Given the description of an element on the screen output the (x, y) to click on. 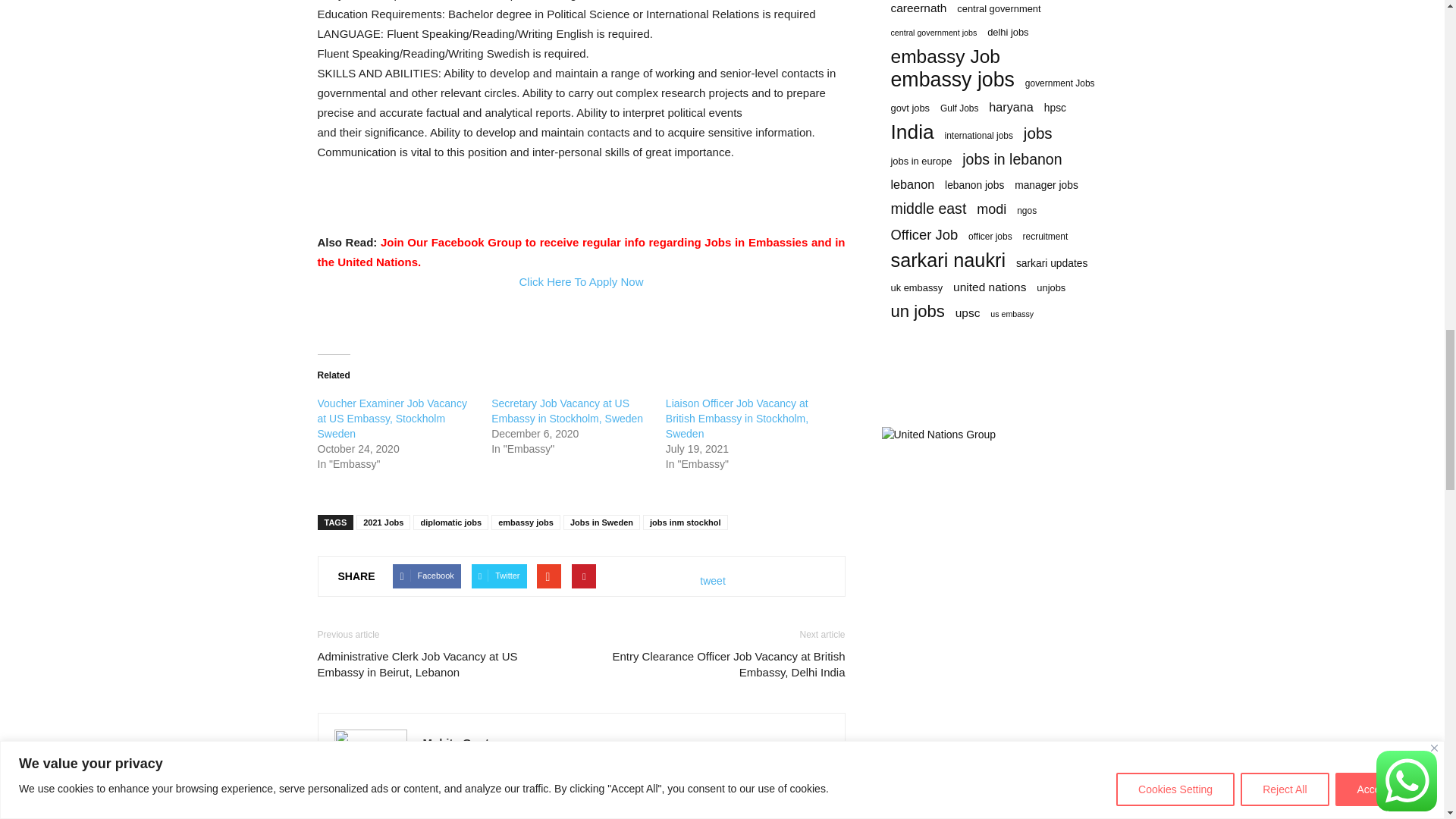
Voucher Examiner Job Vacancy at US Embassy, Stockholm Sweden (391, 418)
Secretary Job Vacancy at US Embassy in Stockholm, Sweden (567, 411)
